Given the description of an element on the screen output the (x, y) to click on. 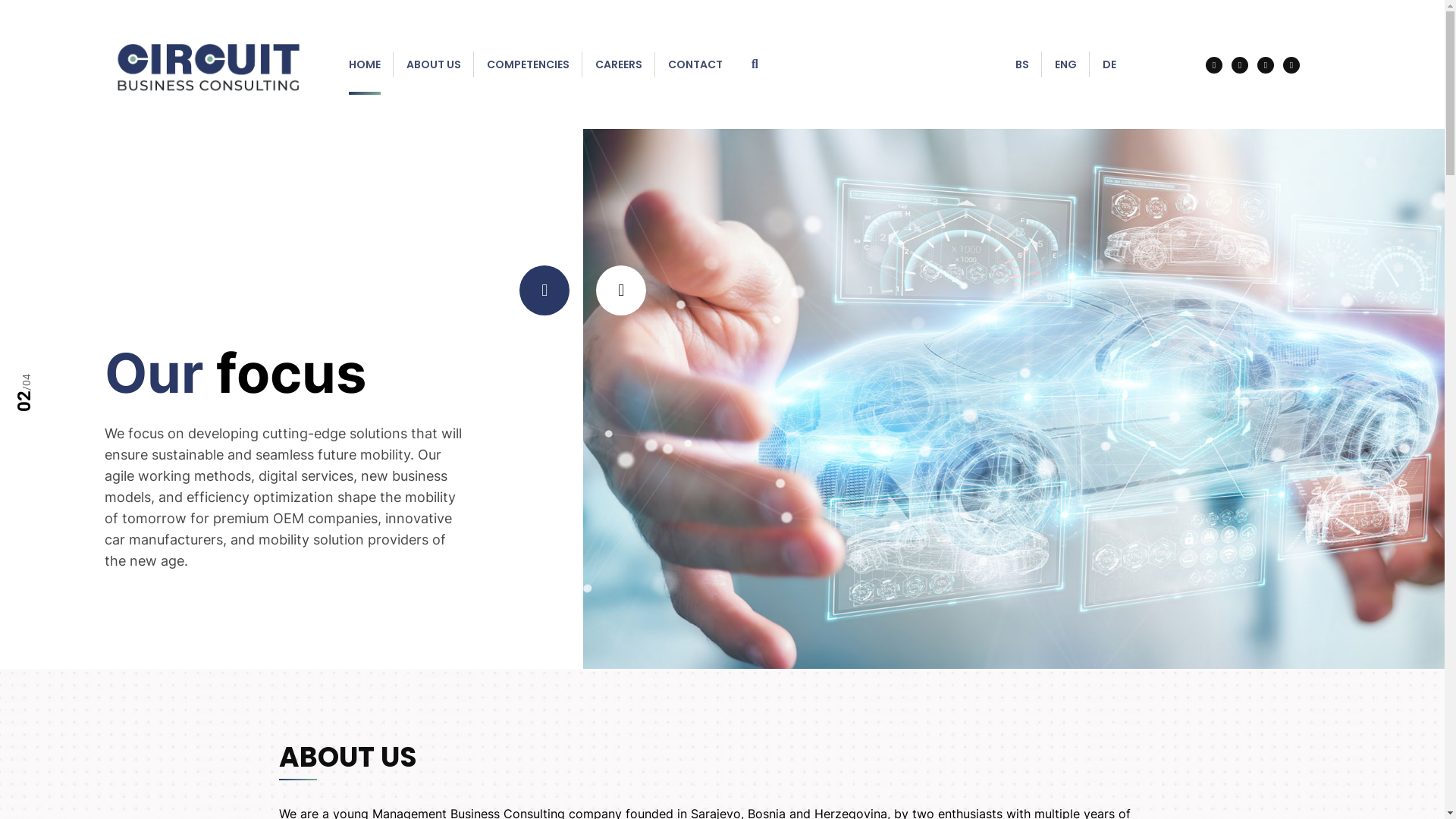
ABOUT US Element type: text (433, 64)
CAREERS Element type: text (618, 64)
COMPETENCIES Element type: text (527, 64)
CONTACT Element type: text (695, 64)
BS Element type: text (1022, 64)
DE Element type: text (1109, 64)
ENG Element type: text (1065, 64)
HOME Element type: text (364, 64)
